Given the description of an element on the screen output the (x, y) to click on. 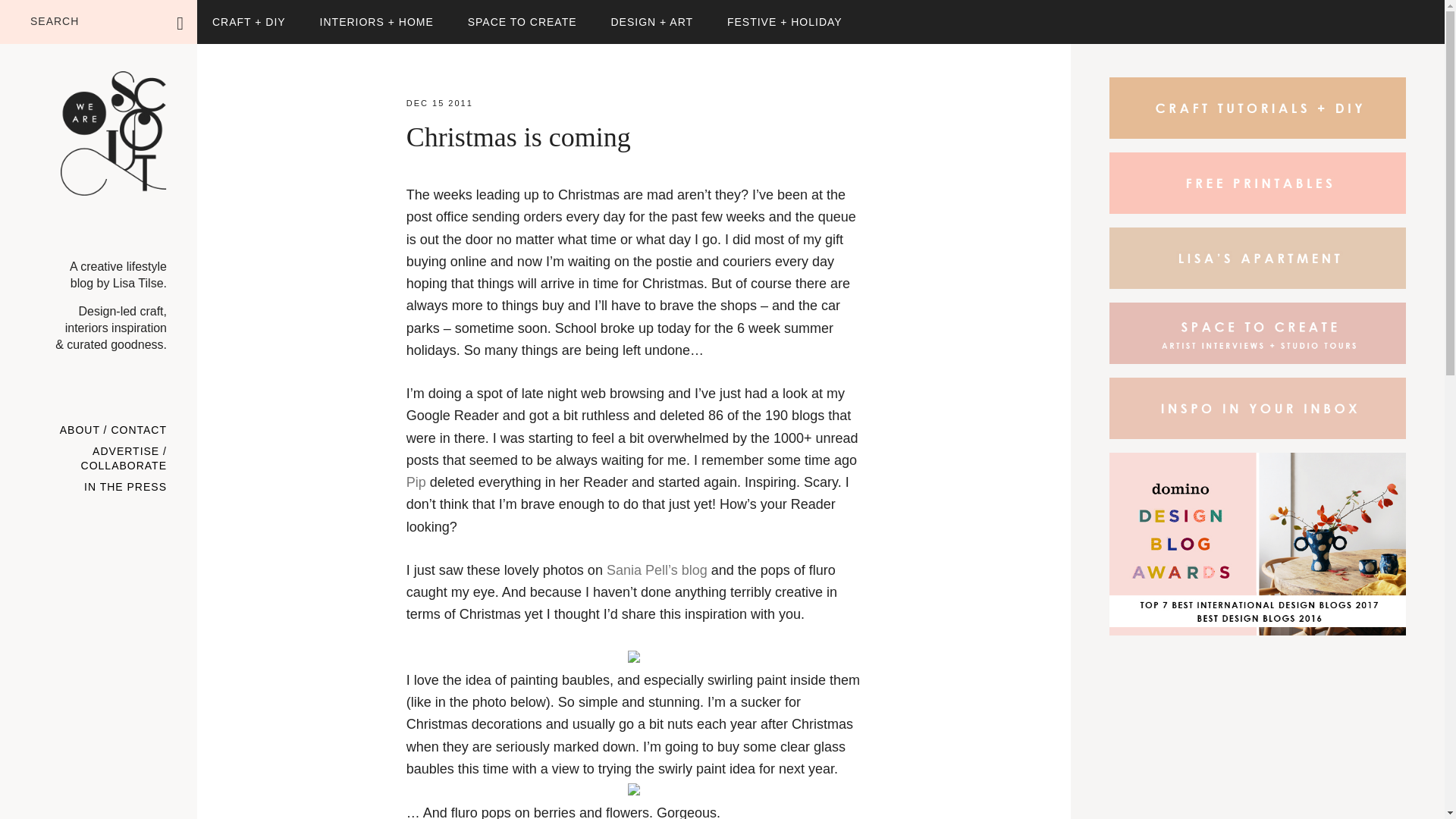
Search (228, 13)
SPACE TO CREATE (522, 22)
We Are Scout (114, 150)
Search (228, 13)
